Given the description of an element on the screen output the (x, y) to click on. 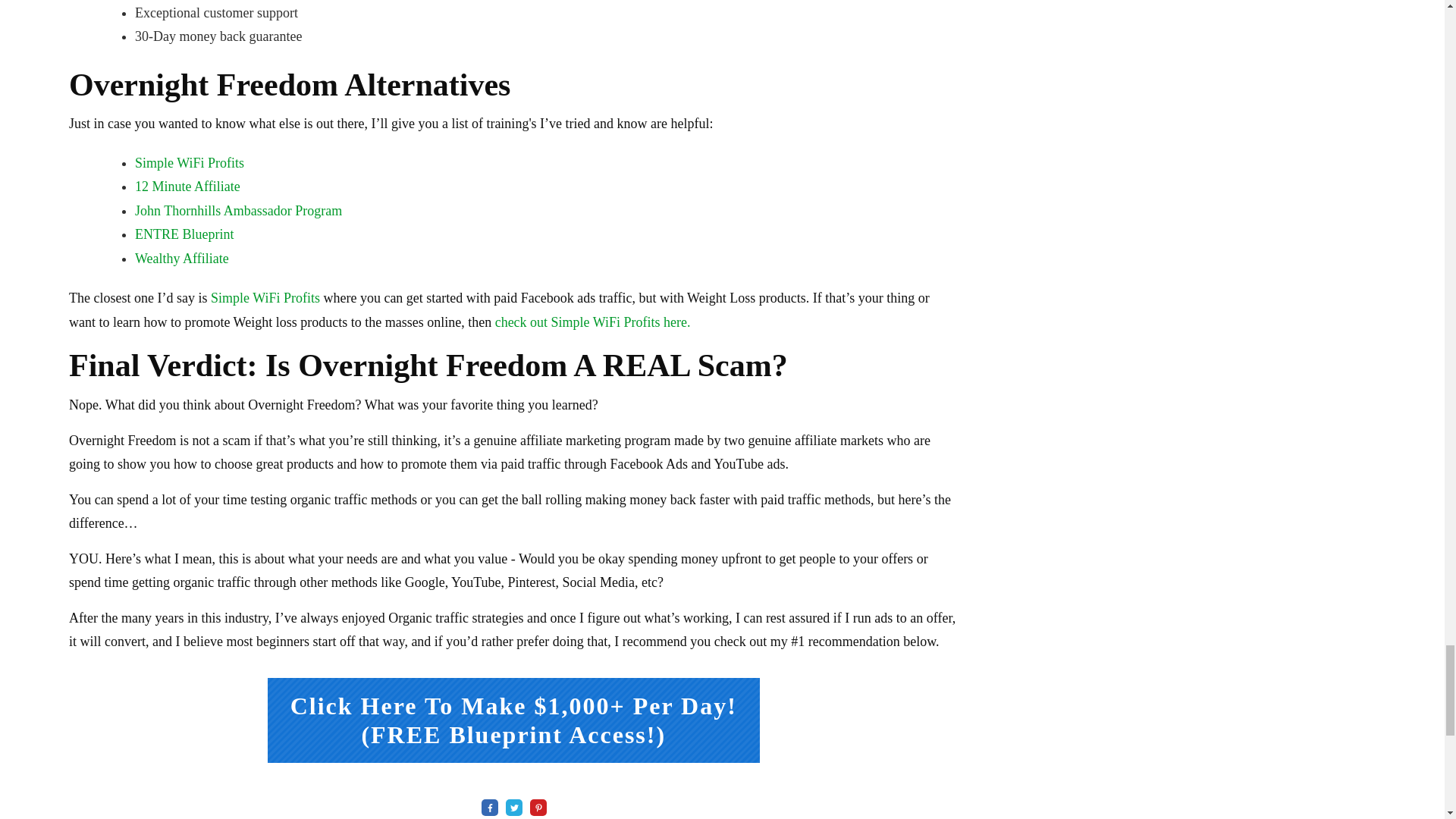
Simple WiFi Profits (189, 162)
John Thornhills Ambassador Program (238, 210)
12 Minute Affiliate (187, 186)
